Given the description of an element on the screen output the (x, y) to click on. 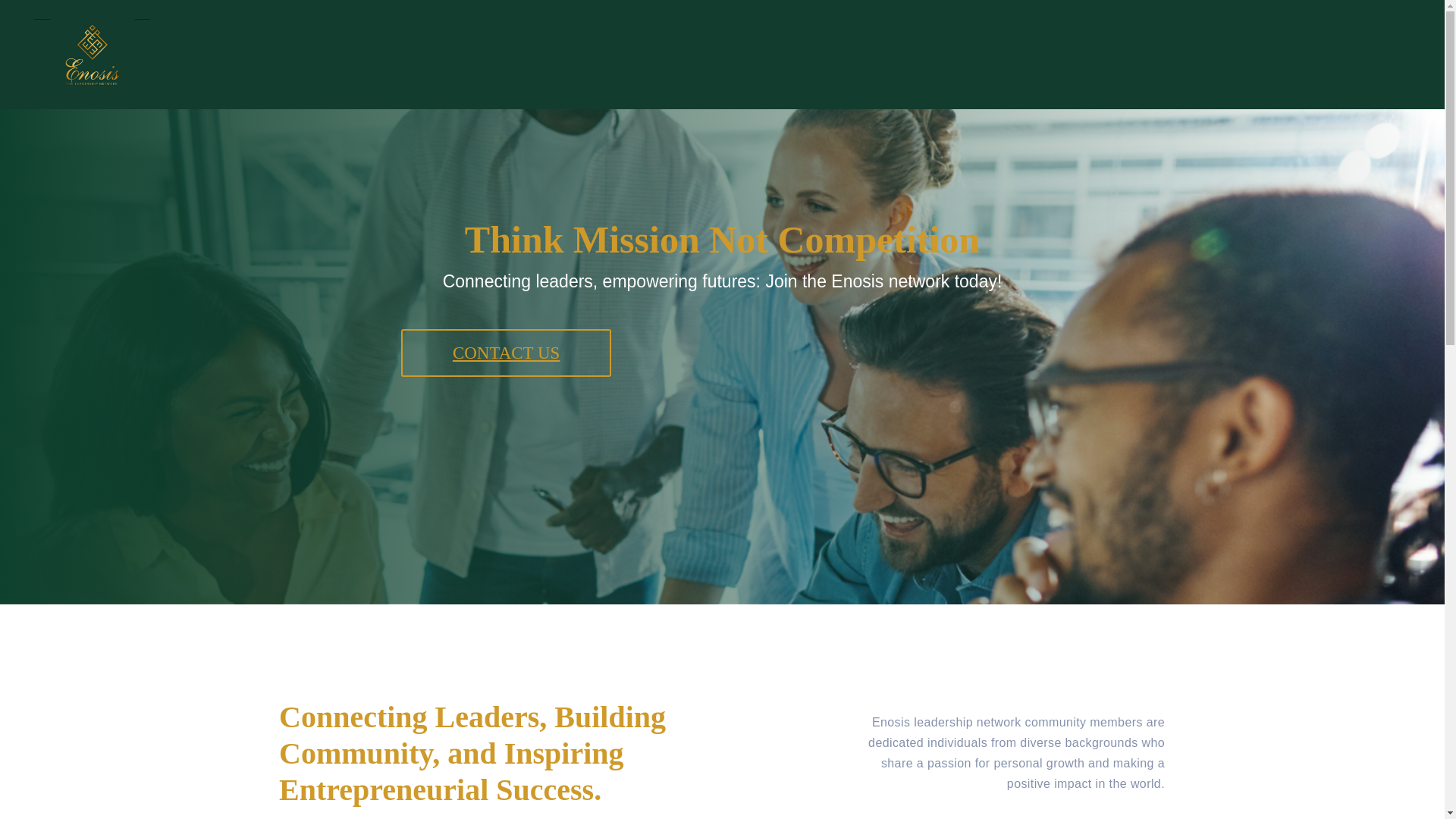
enosis-commercial-1 (91, 54)
CONTACT US (506, 352)
